Given the description of an element on the screen output the (x, y) to click on. 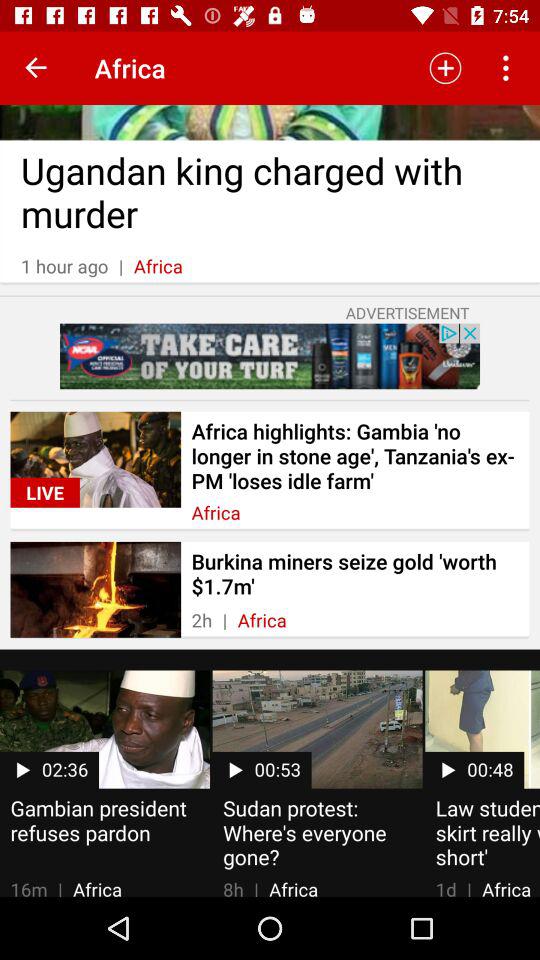
click for advertisement (270, 356)
